Given the description of an element on the screen output the (x, y) to click on. 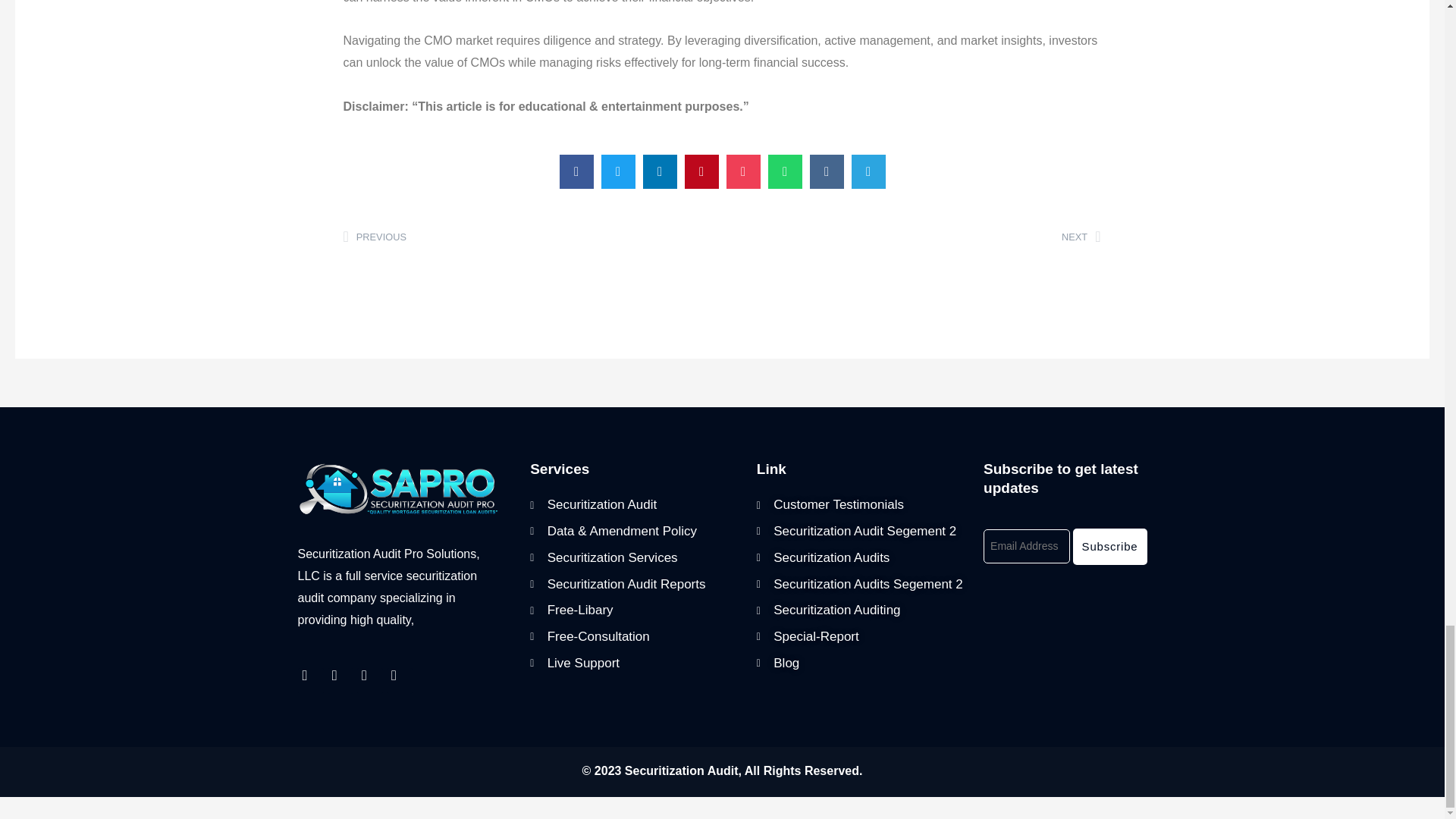
Securitization Audit Segement 2 (862, 531)
Special-Report (862, 637)
Securitization Audit Reports (631, 584)
Subscribe (911, 237)
Securitization Auditing (1110, 546)
Securitization Audit (862, 610)
Linkedin (631, 505)
Free-Libary (399, 680)
Subscribe (631, 610)
Live Support (1110, 546)
Blog (532, 237)
Securitization Audits Segement 2 (631, 663)
Securitization Audits (862, 663)
